Given the description of an element on the screen output the (x, y) to click on. 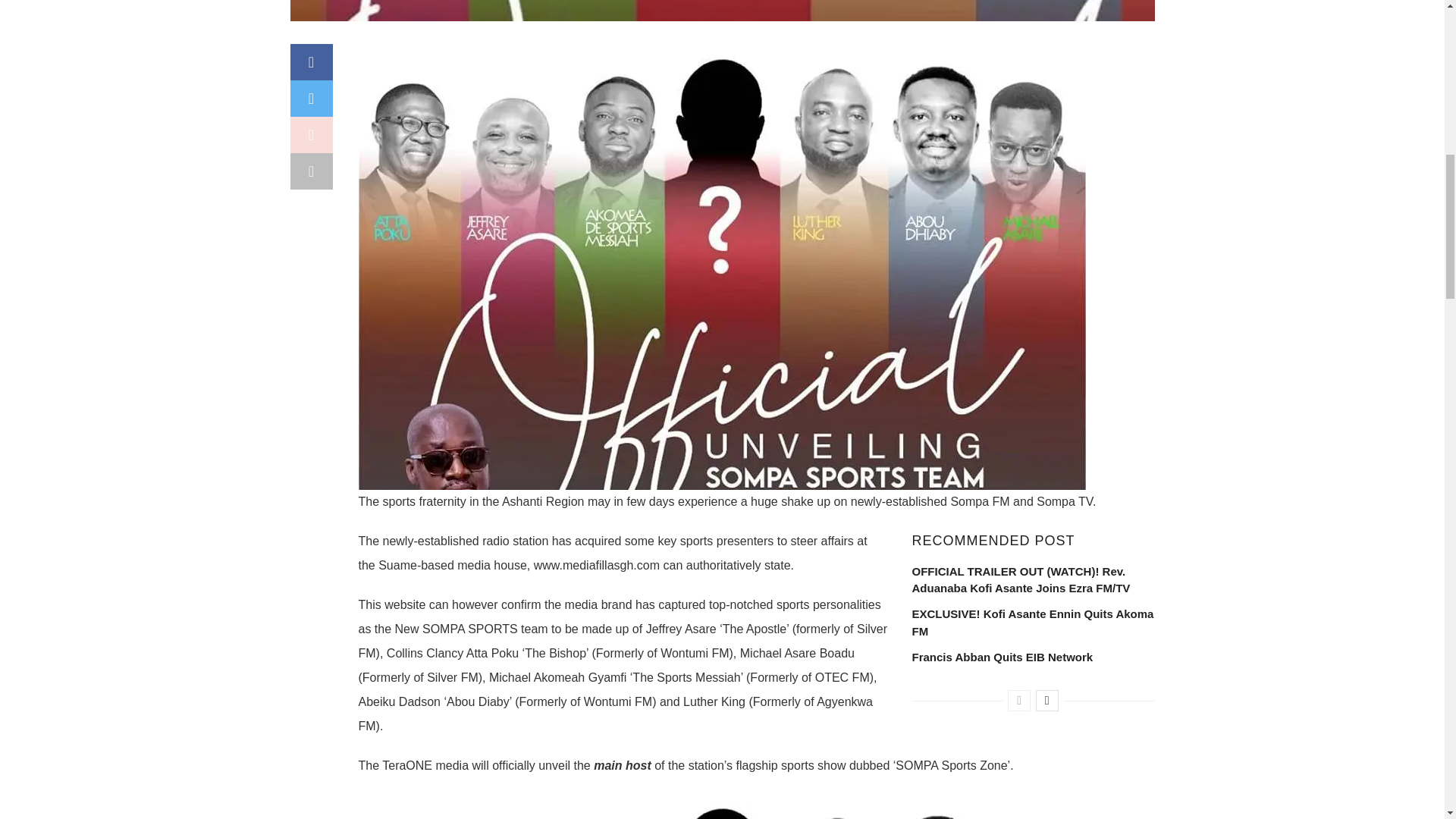
Previous (1018, 700)
Next (1046, 700)
Francis Abban Quits EIB Network (1002, 656)
EXCLUSIVE! Kofi Asante Ennin Quits Akoma FM (1032, 622)
